Given the description of an element on the screen output the (x, y) to click on. 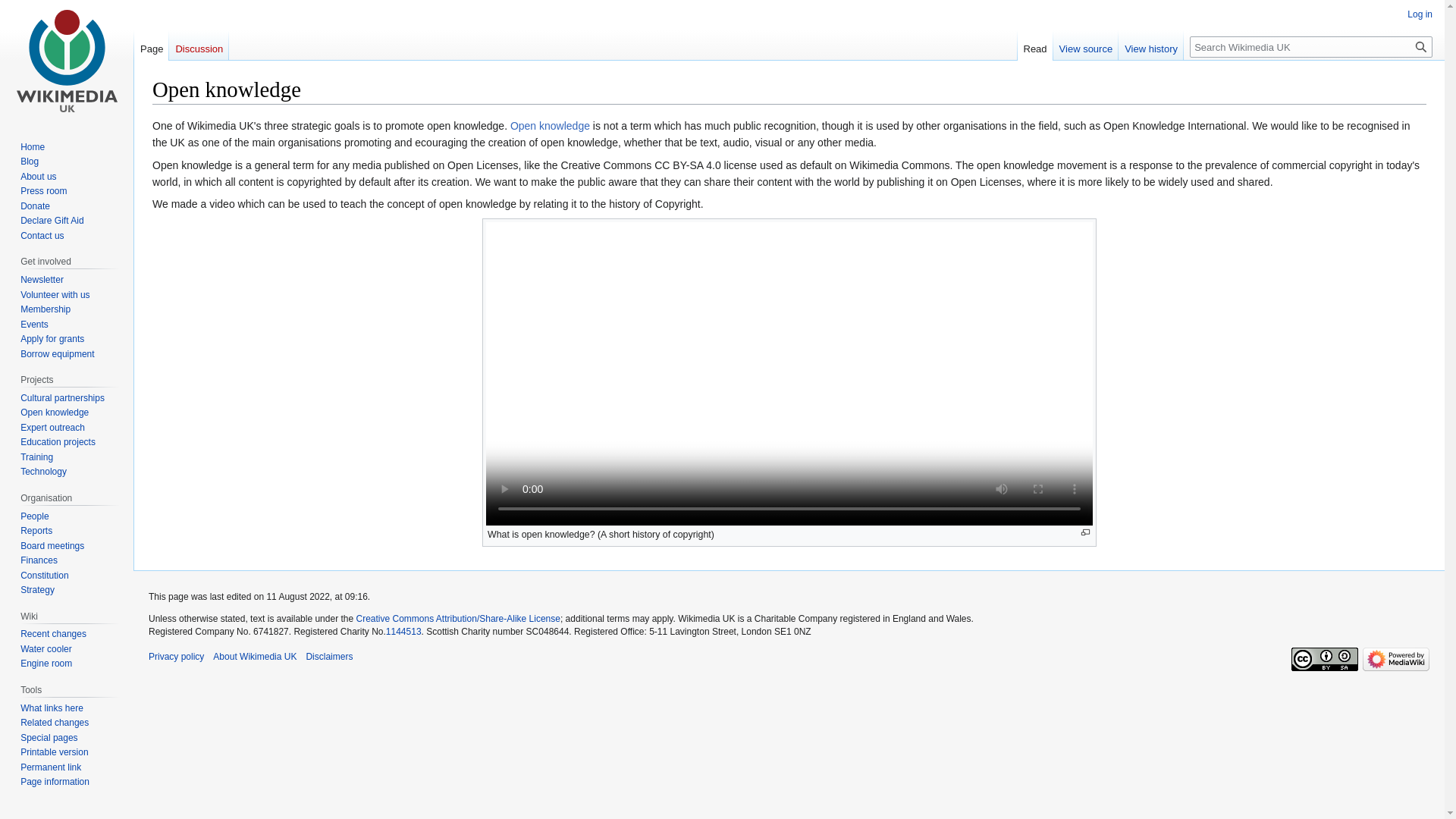
Press room (43, 190)
Volunteer with us (54, 294)
Go (1420, 46)
Permanent link to this revision of this page (50, 767)
Apply for grants (52, 338)
Membership (44, 308)
Search (1420, 46)
Page (150, 45)
Open knowledge (550, 125)
Log in (1419, 14)
